Given the description of an element on the screen output the (x, y) to click on. 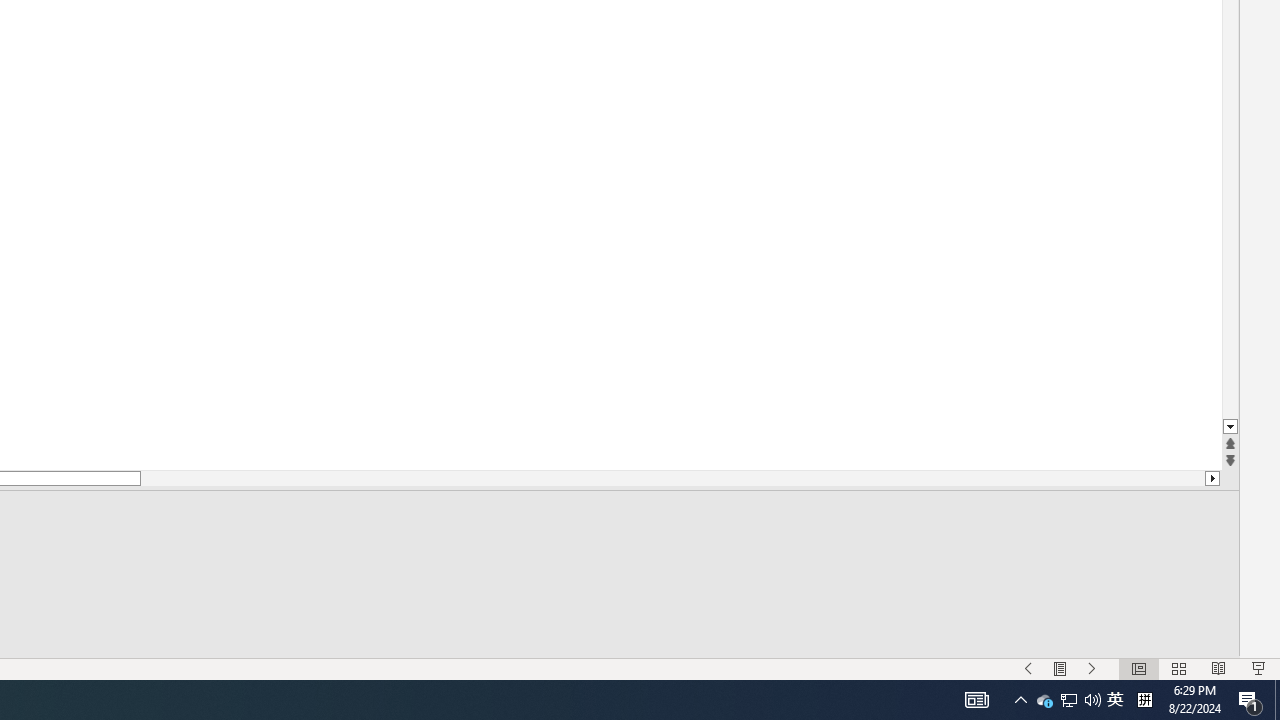
Slide Show Next On (1092, 668)
Menu On (1060, 668)
Slide Show Previous On (1028, 668)
